Given the description of an element on the screen output the (x, y) to click on. 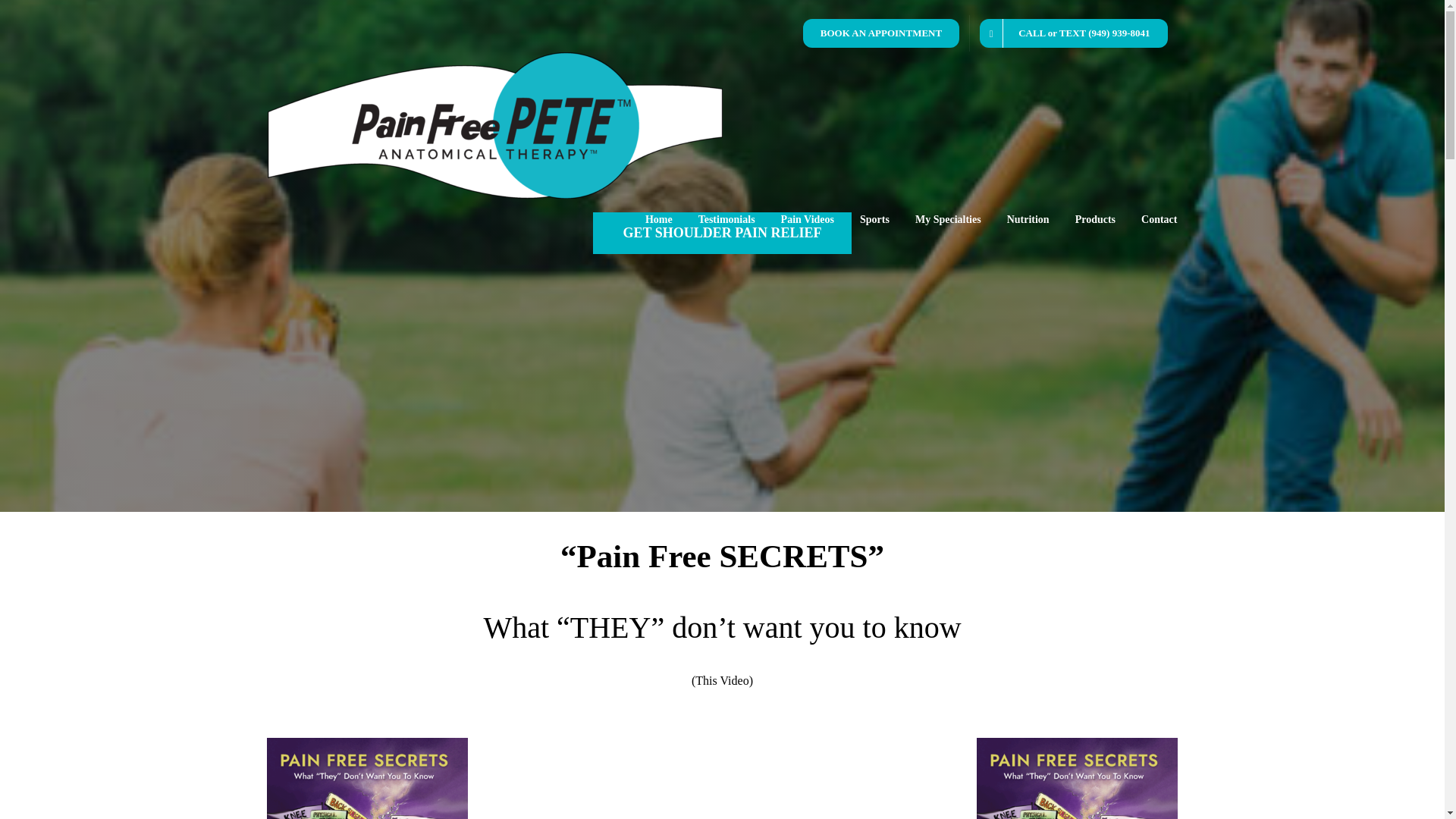
Pain Videos (807, 219)
Products (1095, 219)
Pain Free Secrets (366, 778)
Nutrition (1028, 219)
Pain Free Secrets (1076, 778)
YouTube video player 1 (721, 778)
Testimonials (726, 219)
My Specialties (948, 219)
BOOK AN APPOINTMENT (881, 33)
